Given the description of an element on the screen output the (x, y) to click on. 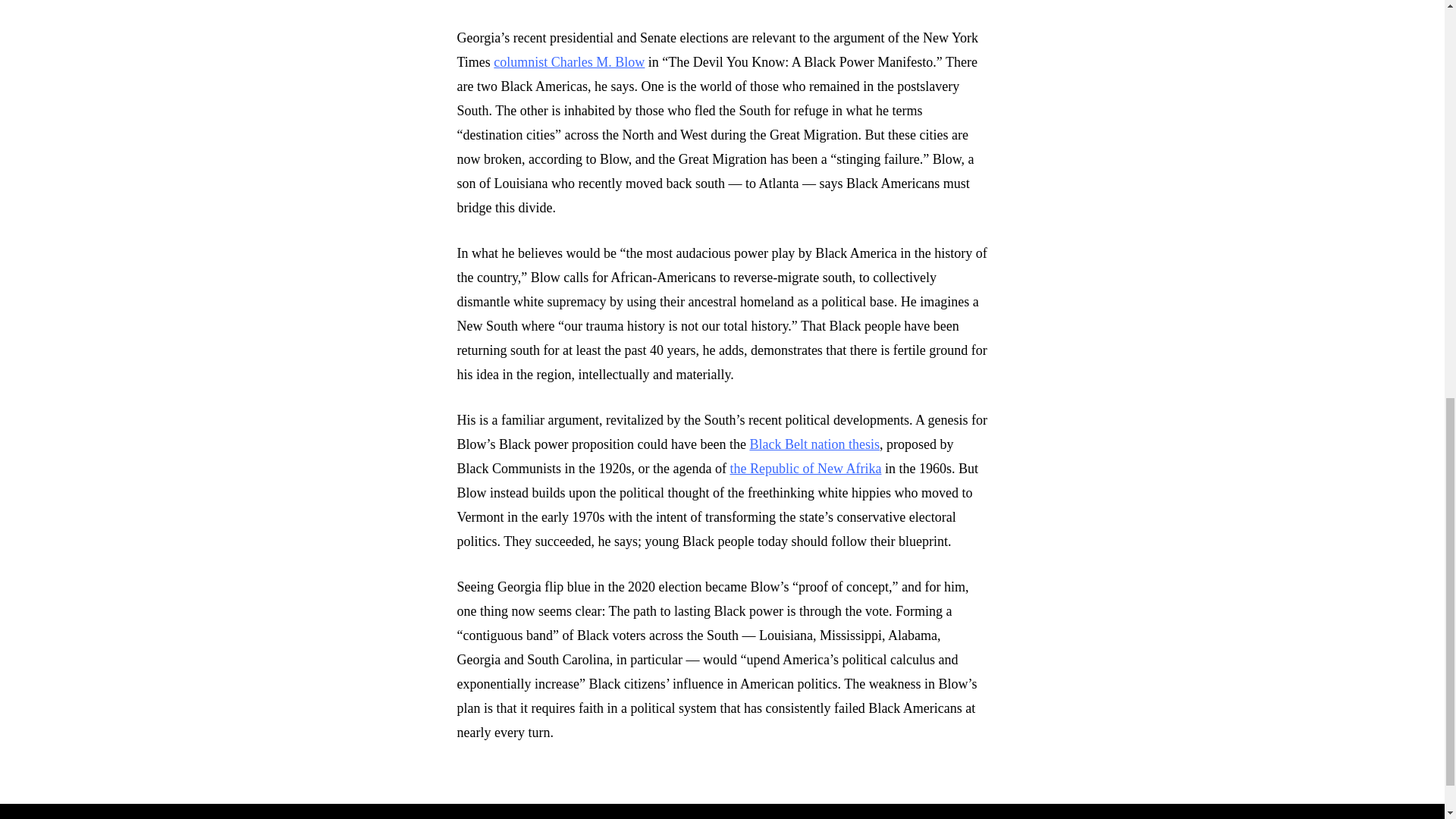
columnist Charles M. Blow (569, 61)
Black Belt nation thesis (814, 444)
the Republic of New Afrika (804, 468)
